Given the description of an element on the screen output the (x, y) to click on. 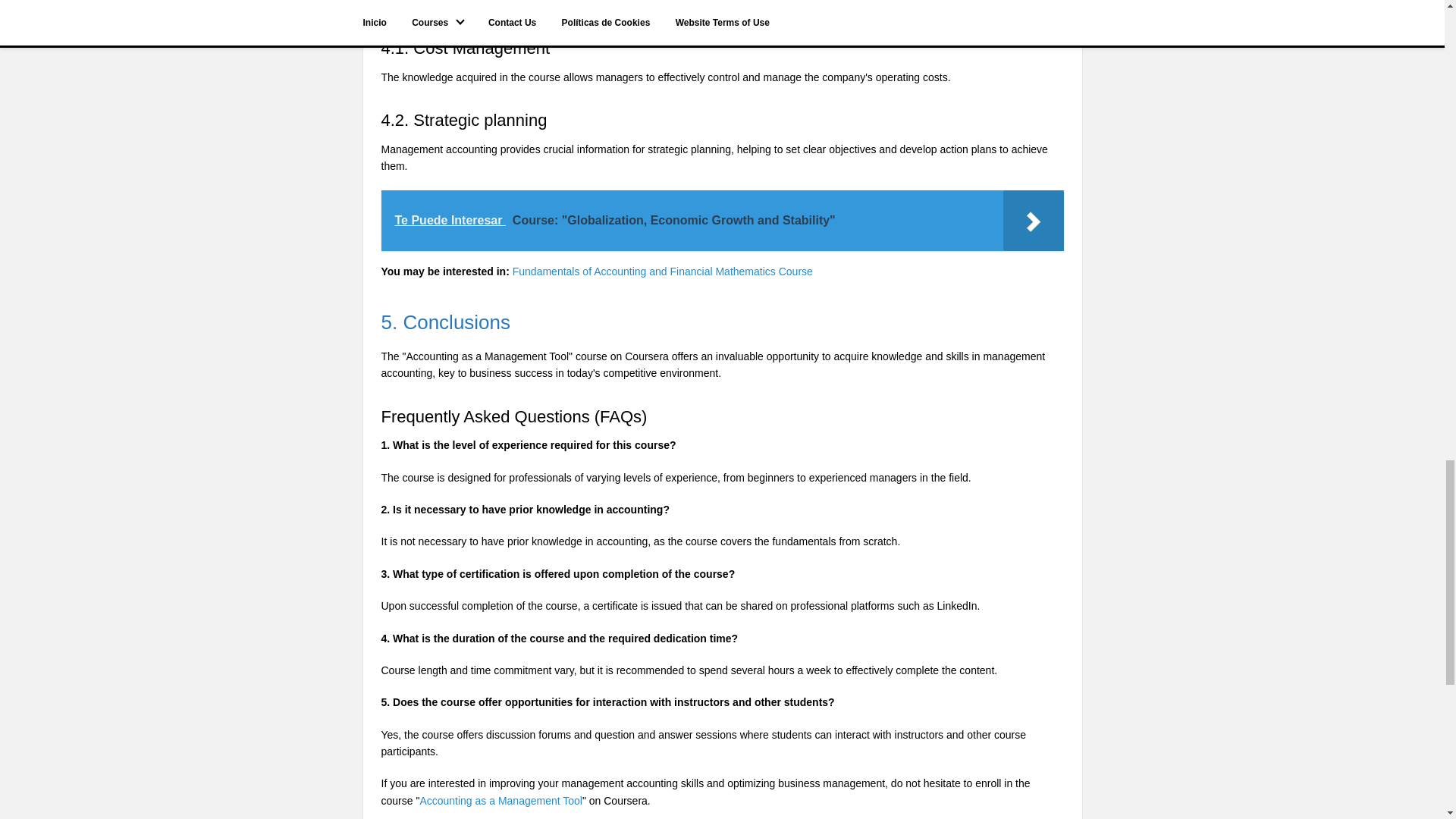
Fundamentals of Accounting and Financial Mathematics Course (662, 271)
Accounting as a Management Tool (500, 800)
